Given the description of an element on the screen output the (x, y) to click on. 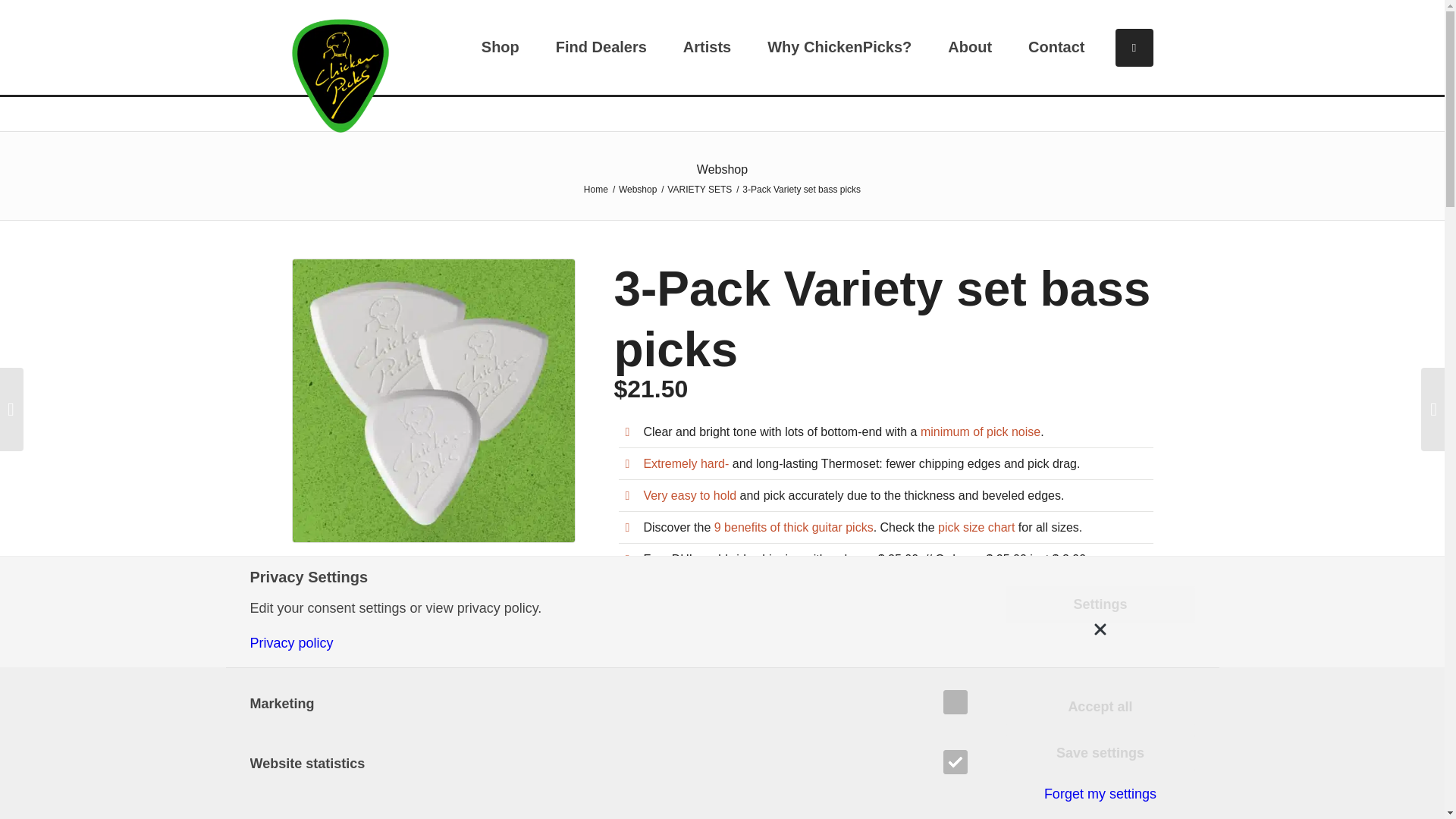
Find Dealers (601, 47)
9 benefits of thick guitar picks (793, 526)
Webshop (637, 189)
Very easy to hold (689, 495)
Contact (1056, 47)
Webshop (637, 189)
VARIETY SETS (749, 662)
Home (595, 189)
Description (658, 734)
Add to cart (814, 609)
VARIETY SETS (699, 189)
1 (673, 608)
Extremely hard- (686, 463)
- (629, 608)
ChickenPicks guitar picks (595, 189)
